Given the description of an element on the screen output the (x, y) to click on. 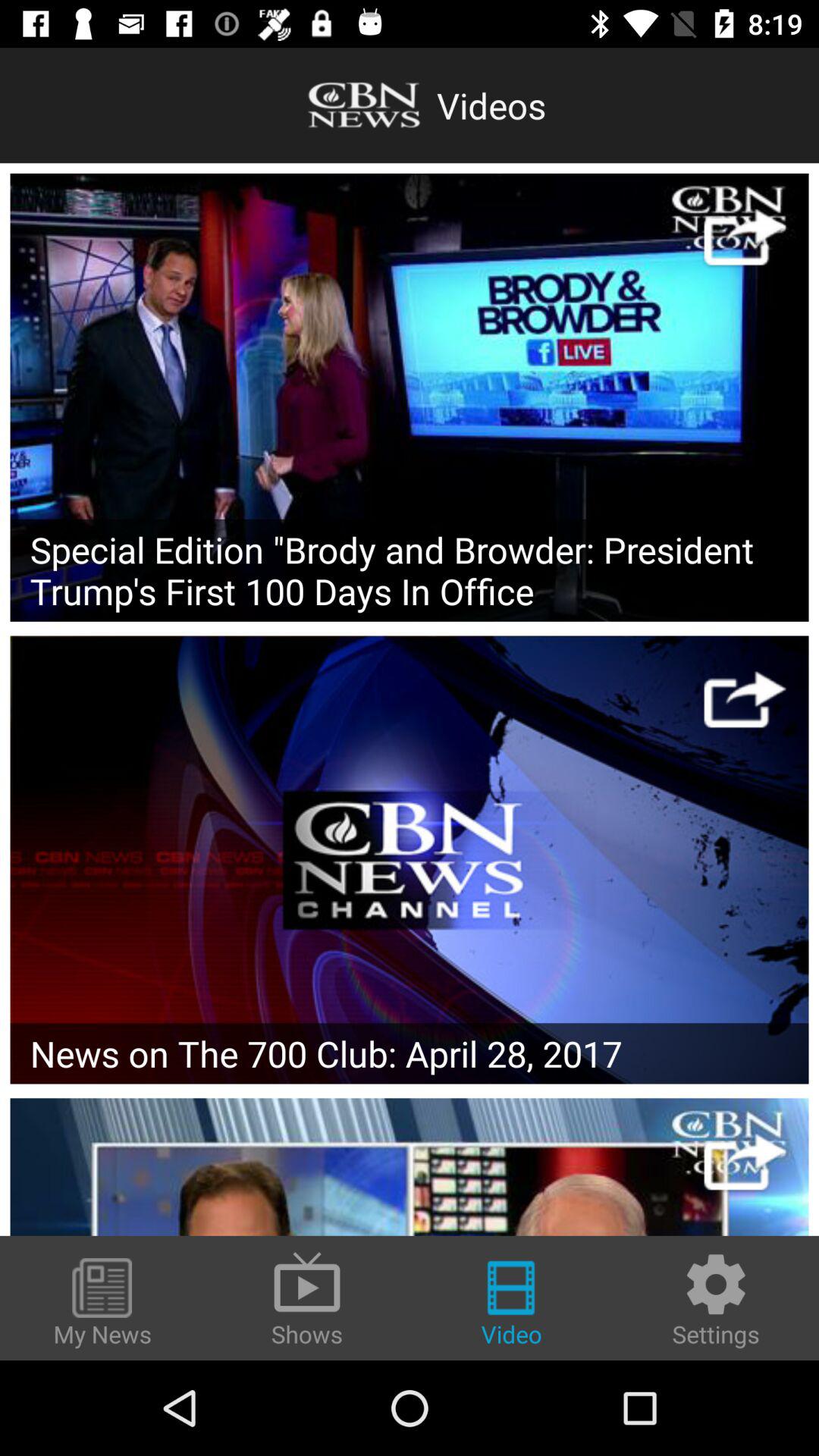
choose the shows (306, 1298)
